Given the description of an element on the screen output the (x, y) to click on. 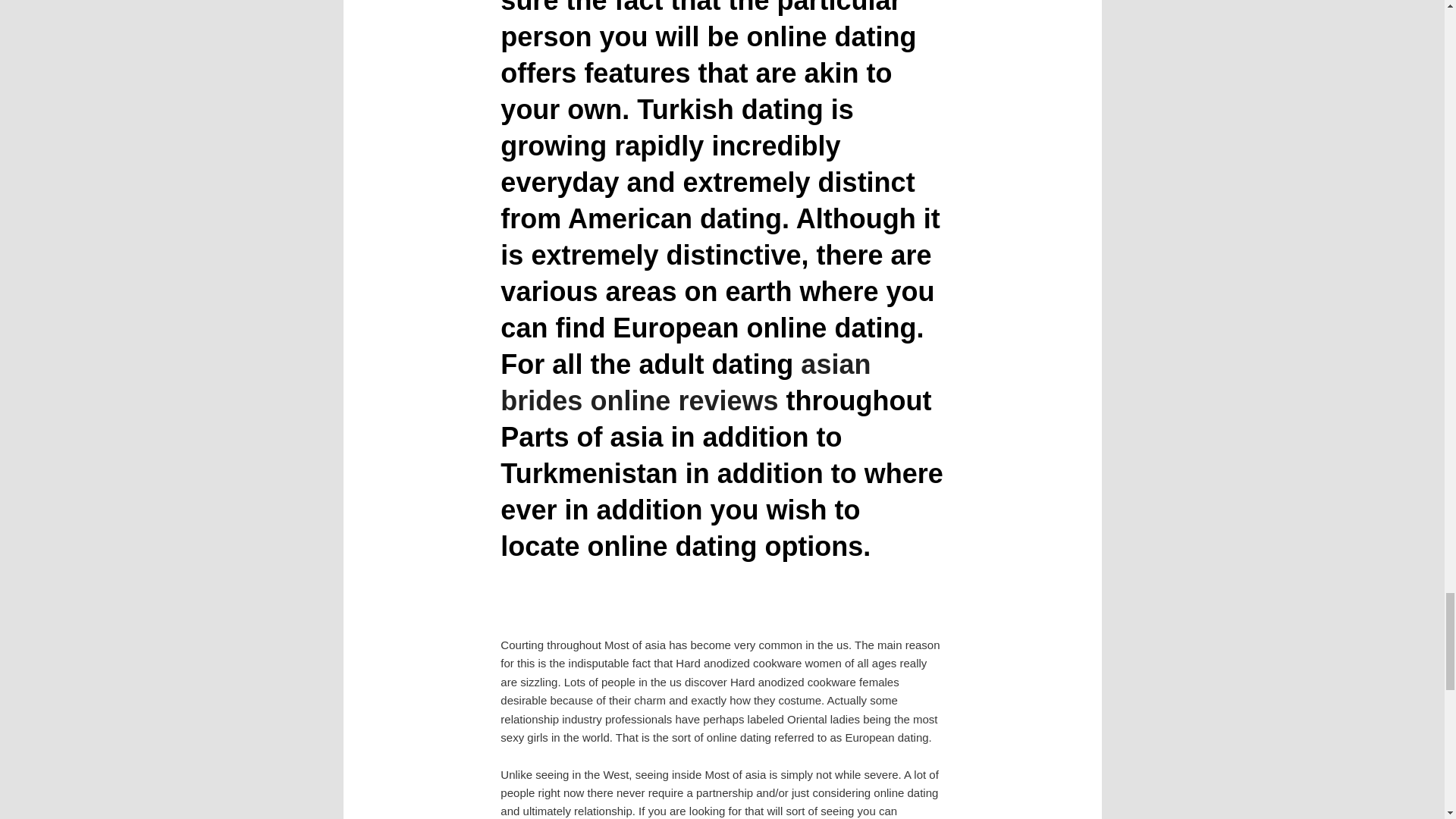
asian brides online reviews (685, 382)
